Given the description of an element on the screen output the (x, y) to click on. 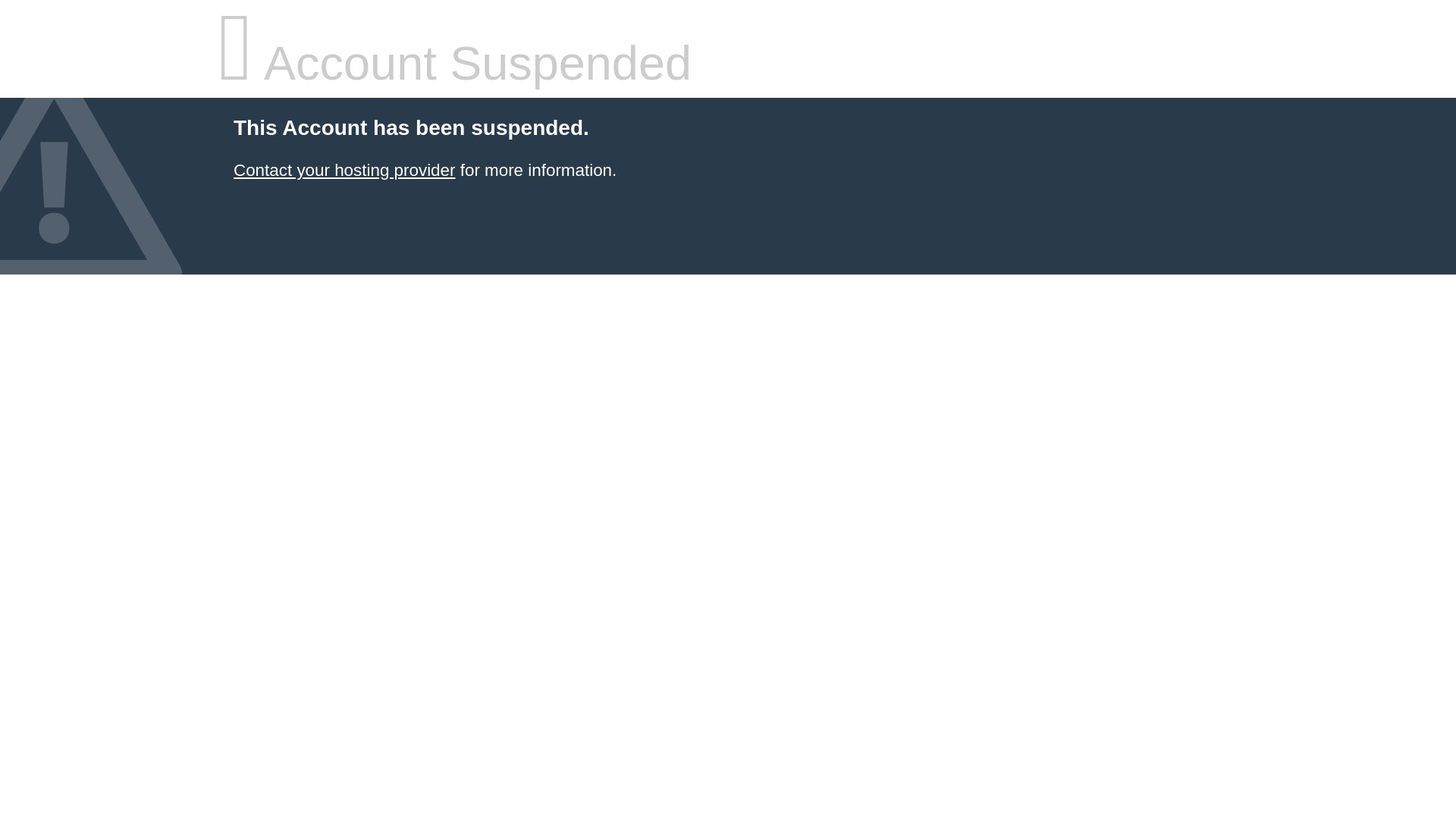
Contact your hosting provider (343, 169)
